Given the description of an element on the screen output the (x, y) to click on. 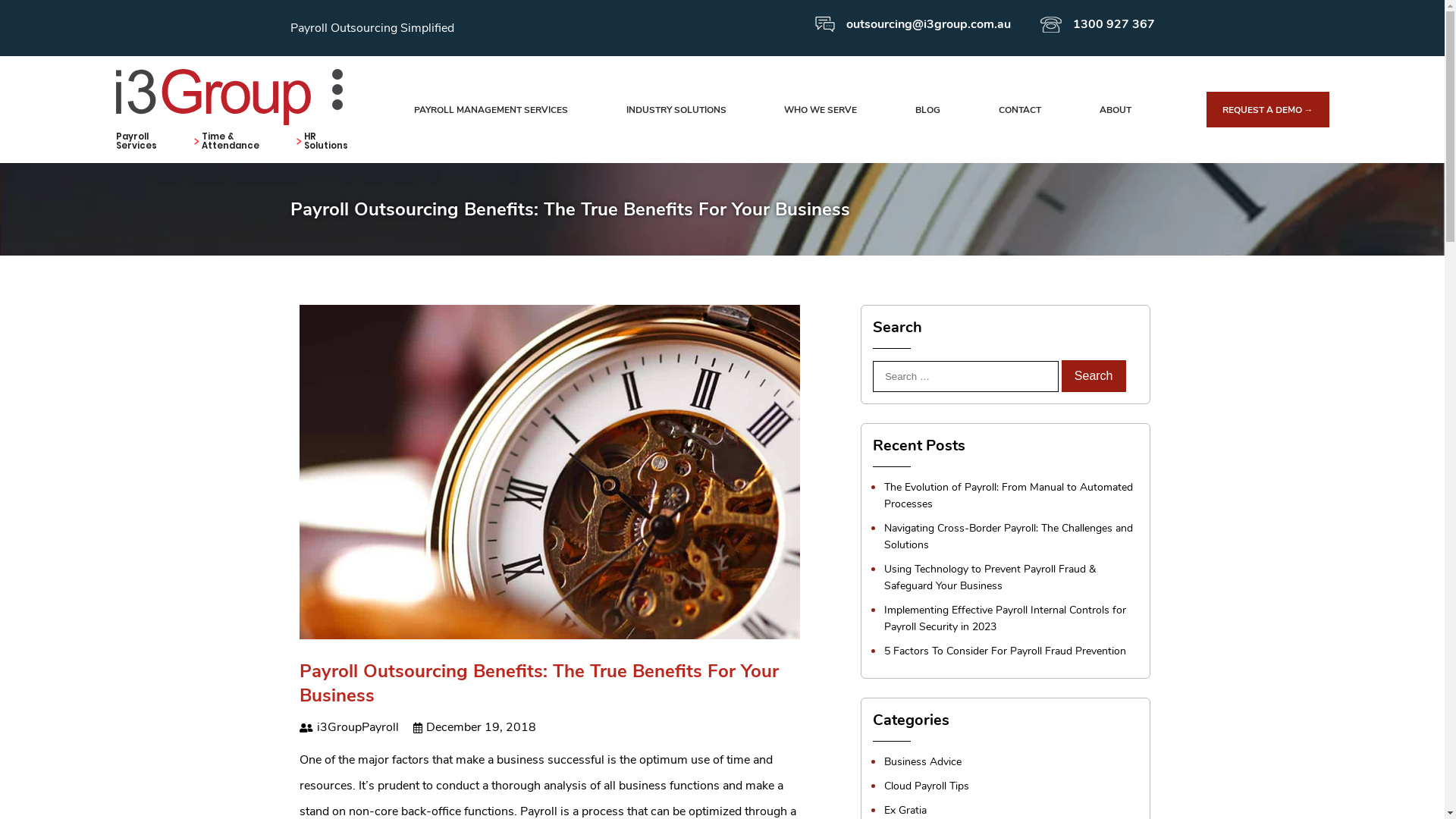
Cloud Payroll Tips Element type: text (926, 785)
WHO WE SERVE Element type: text (820, 109)
Ex Gratia Element type: text (905, 810)
The Evolution of Payroll: From Manual to Automated Processes Element type: text (1008, 495)
BLOG Element type: text (927, 109)
INDUSTRY SOLUTIONS Element type: text (676, 109)
Business Advice Element type: text (922, 761)
outsourcing@i3group.com.au Element type: text (913, 23)
CONTACT Element type: text (1019, 109)
PAYROLL MANAGEMENT SERVICES Element type: text (490, 109)
5 Factors To Consider For Payroll Fraud Prevention Element type: text (1005, 650)
Payroll Services
Time & Attendance
HR Solutions Element type: text (238, 109)
Search Element type: text (1093, 376)
ABOUT Element type: text (1115, 109)
1300 927 367 Element type: text (1097, 23)
